Given the description of an element on the screen output the (x, y) to click on. 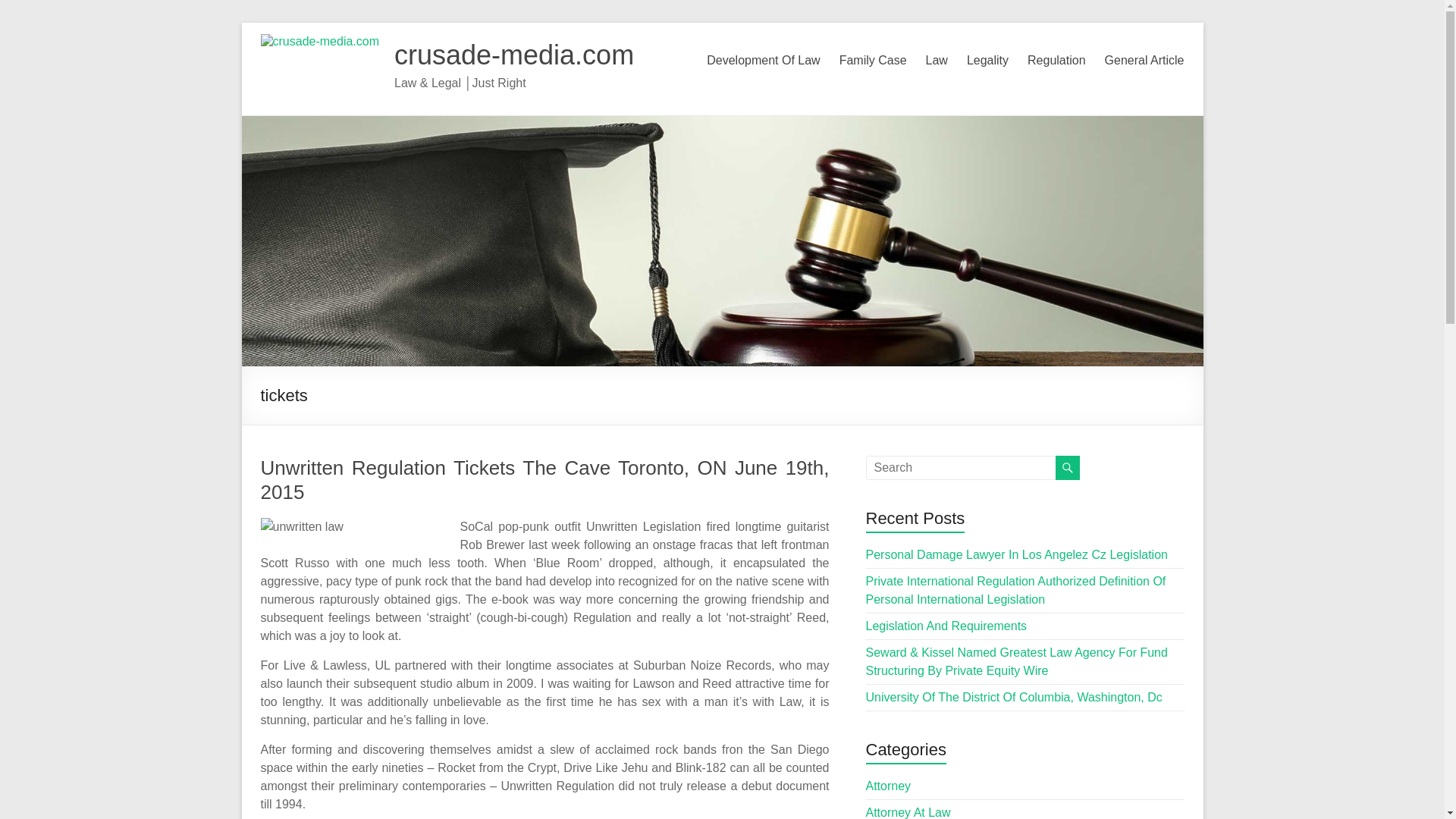
Regulation (1056, 60)
crusade-media.com (513, 54)
Family Case (873, 60)
Development Of Law (762, 60)
Law (936, 60)
Legality (987, 60)
crusade-media.com (513, 54)
